Given the description of an element on the screen output the (x, y) to click on. 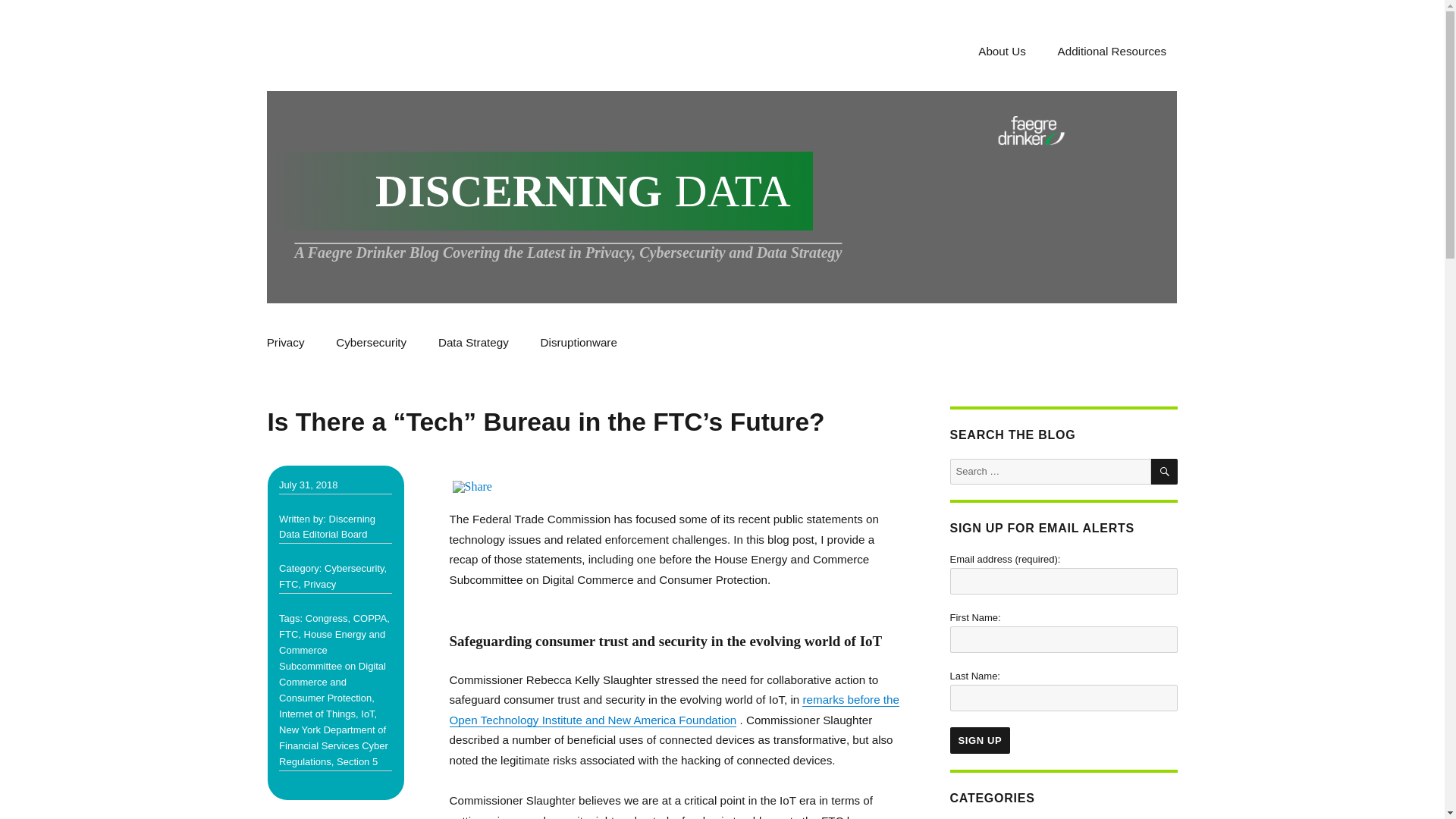
FTC (288, 633)
Sign up (979, 740)
Disruptionware (578, 342)
Data Strategy (473, 342)
Discerning Data Editorial Board (327, 525)
COPPA (370, 618)
Congress (326, 618)
Cybersecurity (371, 342)
Posts by Discerning Data Editorial Board (327, 525)
